Given the description of an element on the screen output the (x, y) to click on. 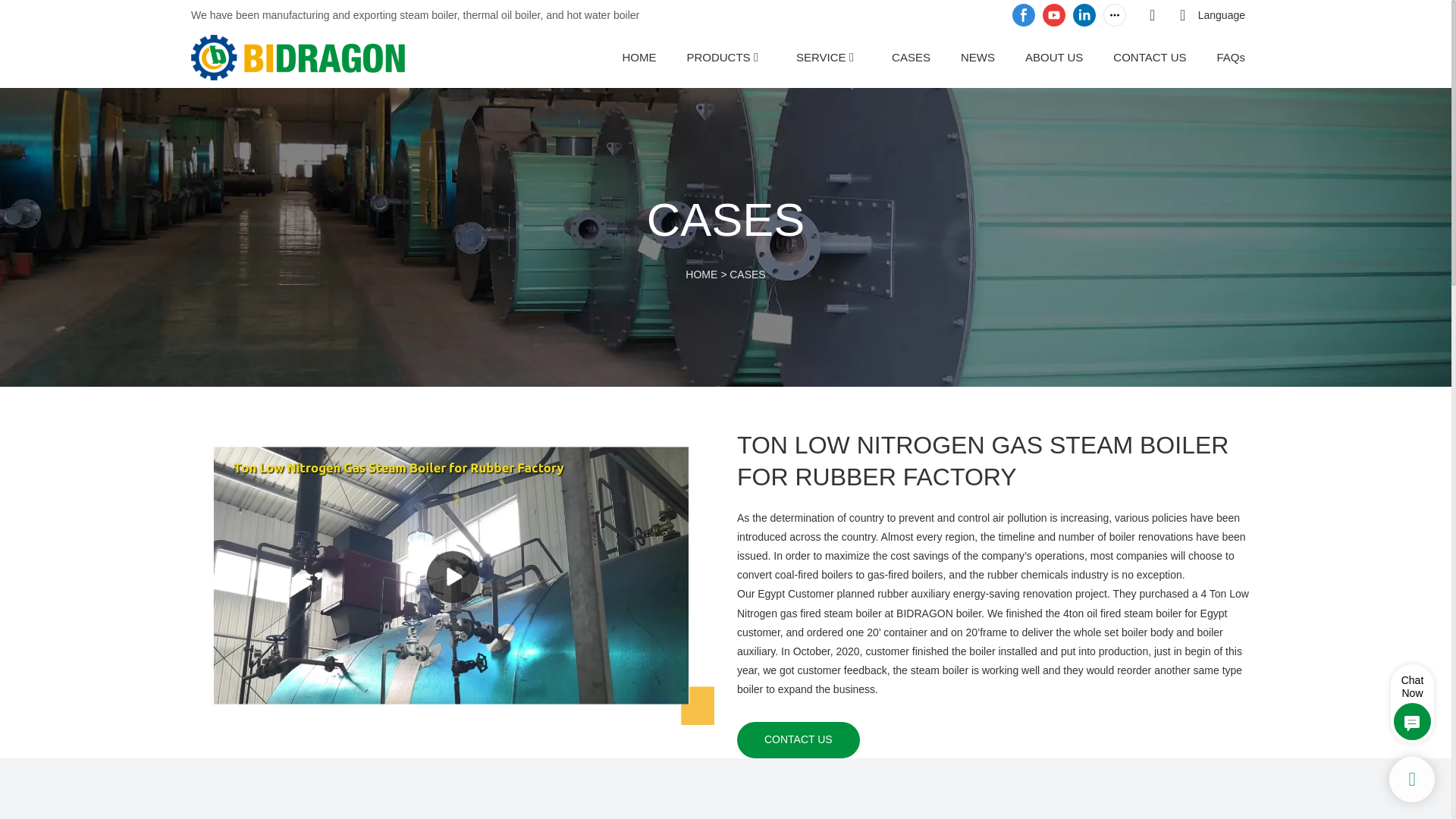
NEWS (977, 56)
PRODUCTS (717, 56)
facebook (1024, 15)
linkedin (1083, 15)
CASES (747, 274)
FAQs (1229, 56)
CONTACT US (798, 739)
ABOUT US (1054, 56)
SERVICE (820, 56)
youtube (1053, 15)
